Given the description of an element on the screen output the (x, y) to click on. 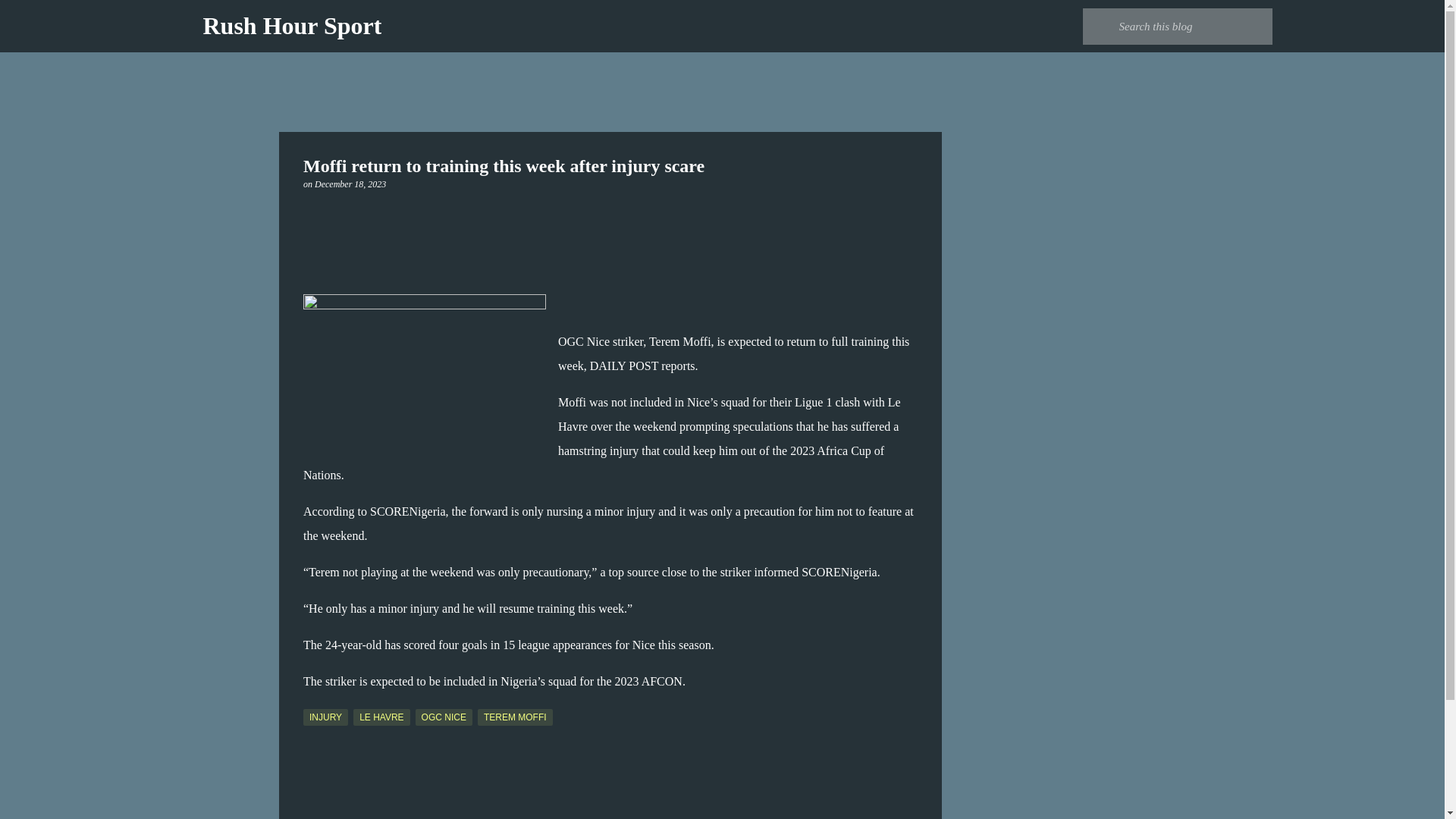
December 18, 2023 (349, 184)
TEREM MOFFI (515, 717)
Rush Hour Sport (292, 25)
LE HAVRE (381, 717)
permanent link (349, 184)
OGC NICE (442, 717)
INJURY (324, 717)
